Given the description of an element on the screen output the (x, y) to click on. 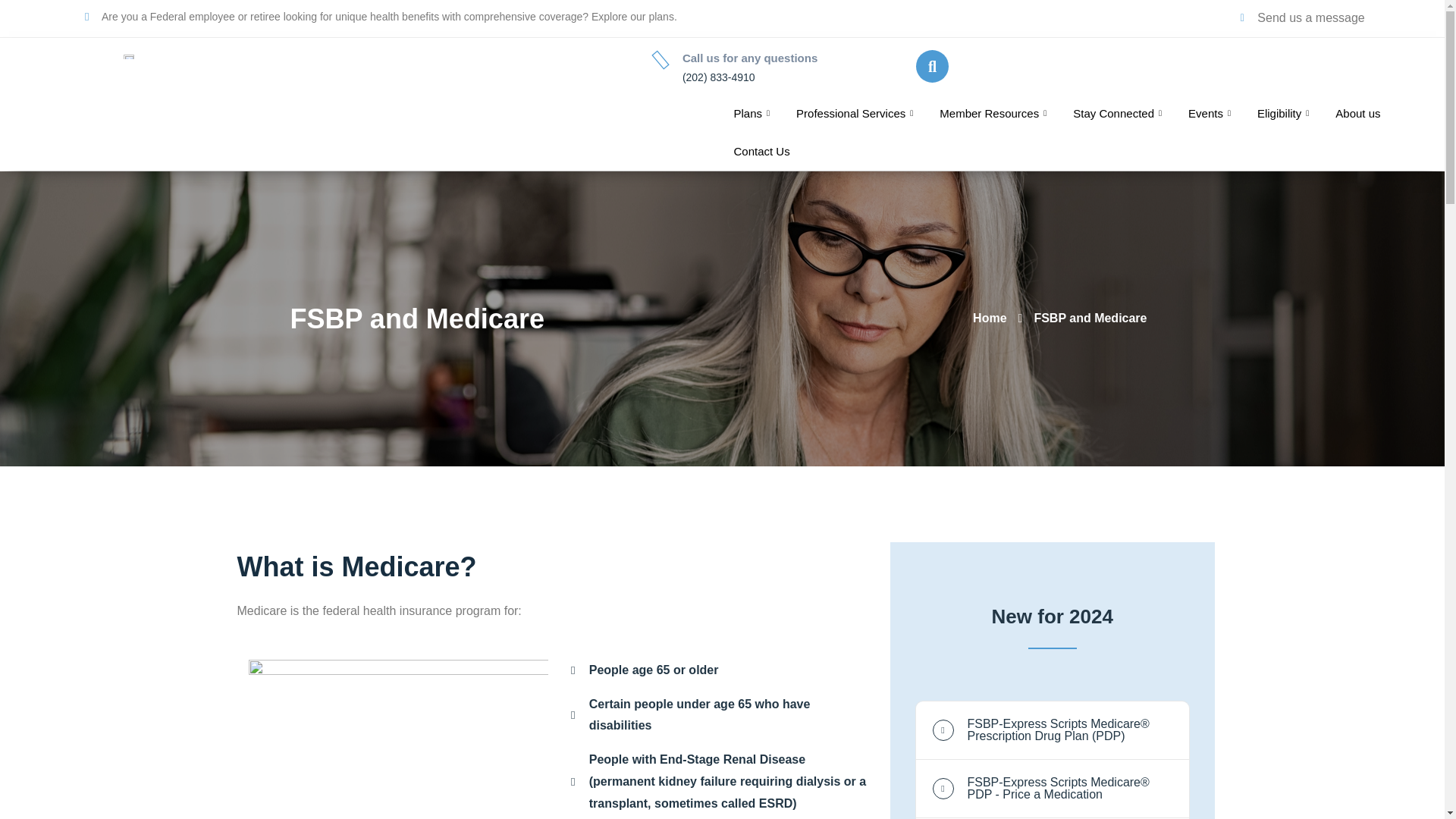
Professional Services (856, 113)
AFSPA Member Portal (866, 64)
Send us a message (1302, 18)
Plans (753, 113)
Member Resources (994, 113)
